Given the description of an element on the screen output the (x, y) to click on. 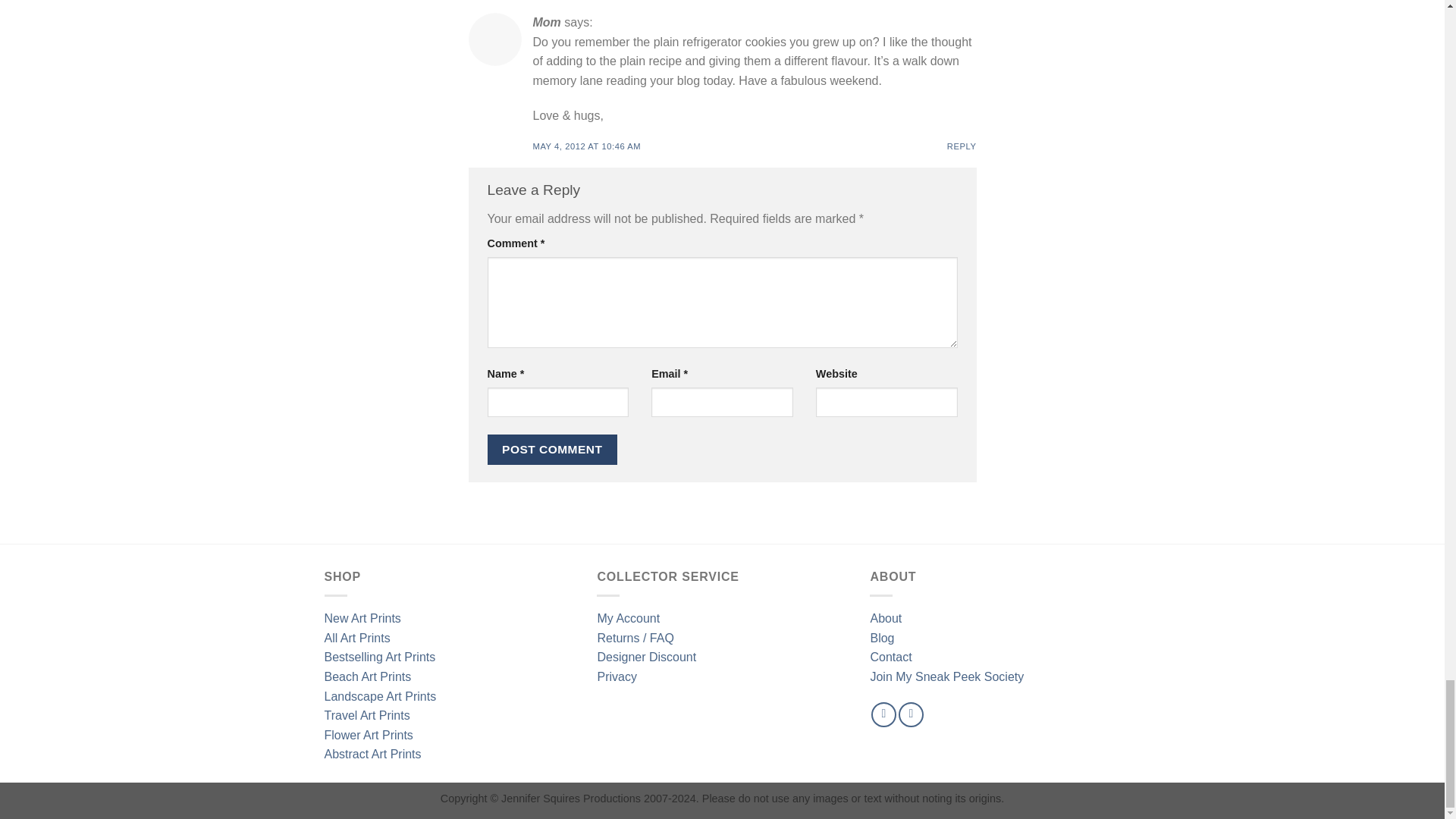
Post Comment (551, 449)
Follow on Instagram (910, 714)
Follow on Facebook (883, 714)
